Given the description of an element on the screen output the (x, y) to click on. 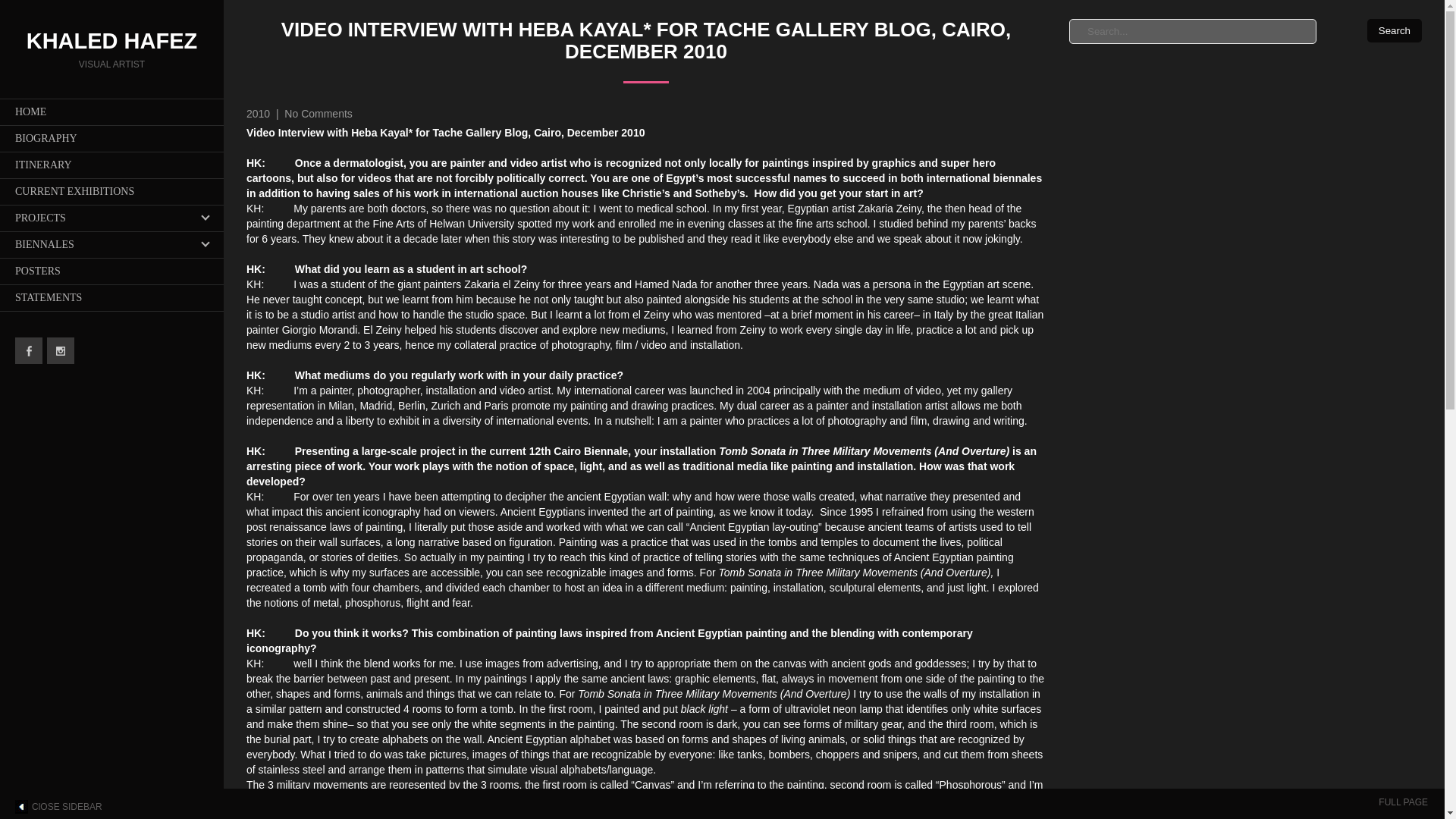
Search (1394, 30)
Search (1394, 30)
CURRENT EXHIBITIONS (112, 191)
STATEMENTS (112, 297)
KHALED HAFEZ VISUAL ARTIST (112, 53)
POSTERS (112, 270)
ITINERARY (112, 164)
PROJECTS (112, 217)
HOME (112, 111)
No Comments (317, 113)
BIENNALES (112, 243)
Search (1394, 30)
BIOGRAPHY (112, 138)
